Given the description of an element on the screen output the (x, y) to click on. 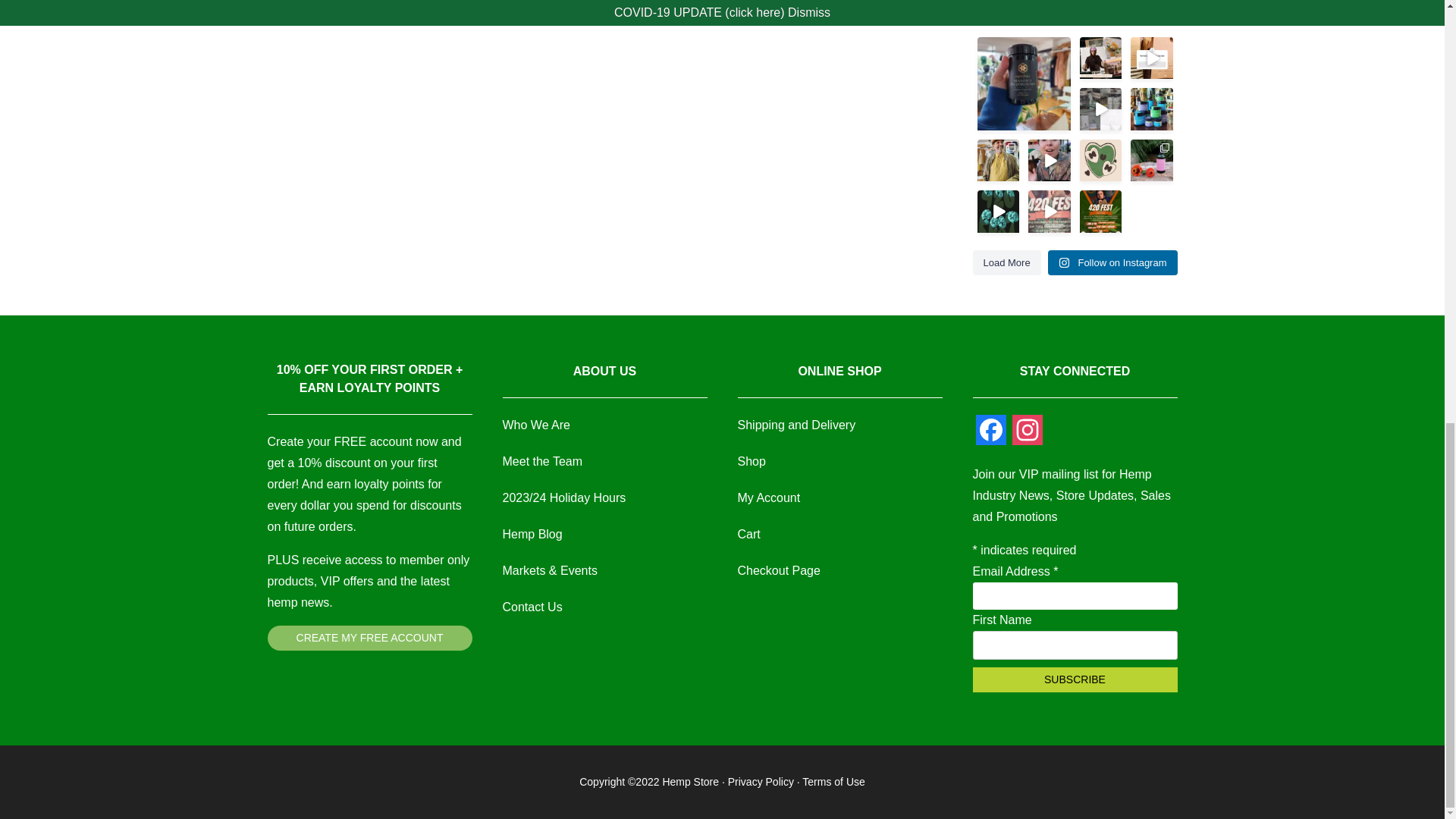
Subscribe (1074, 679)
